Given the description of an element on the screen output the (x, y) to click on. 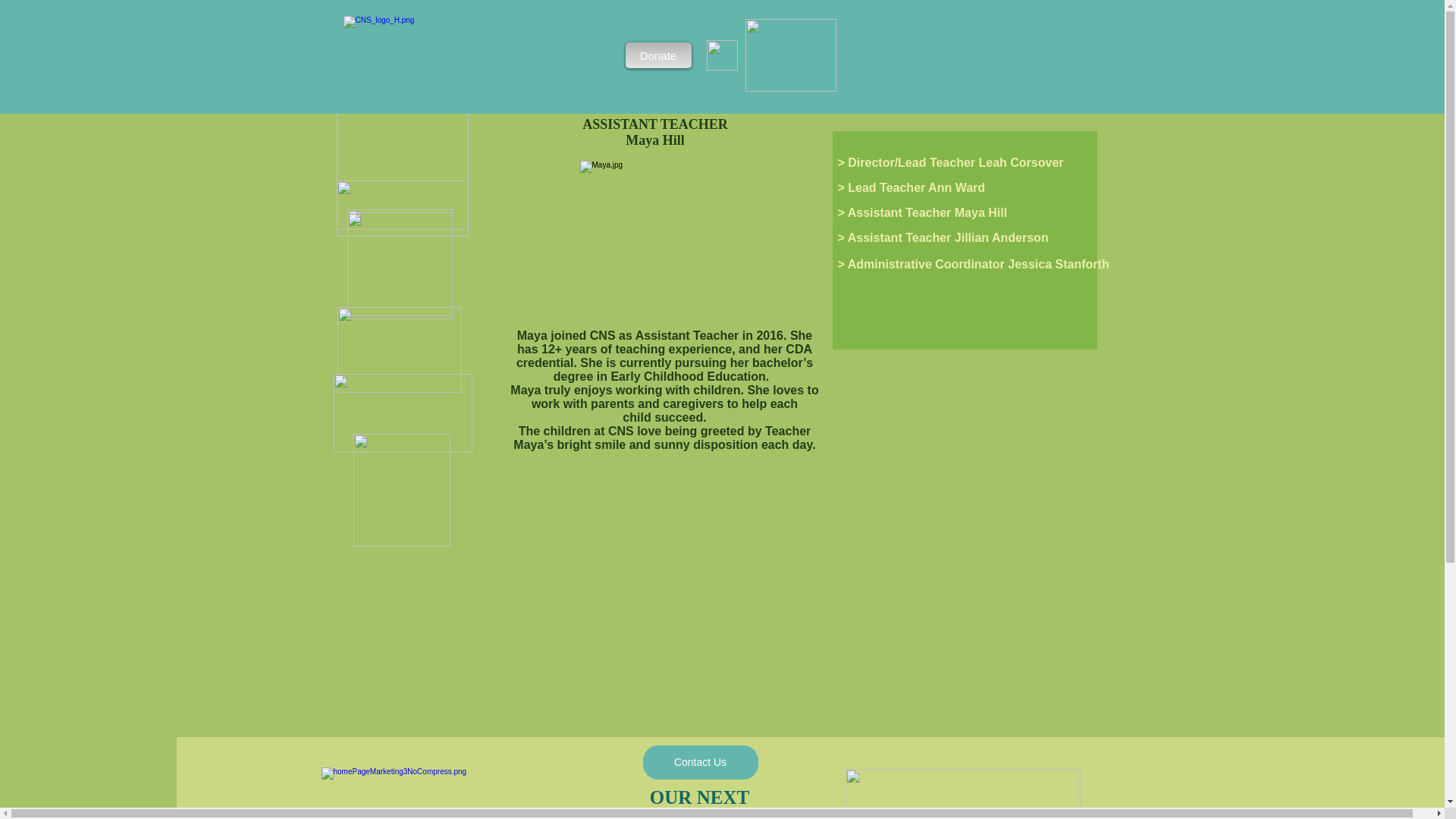
Support Our Fundraisers (438, 793)
Donate To Our Capital Campaign (402, 412)
Our Faculty (399, 262)
Our Faculty (399, 265)
logoNew.png (470, 57)
loginButton.png (789, 54)
Donate (657, 54)
Our Program (402, 208)
Contact Us (700, 762)
